Given the description of an element on the screen output the (x, y) to click on. 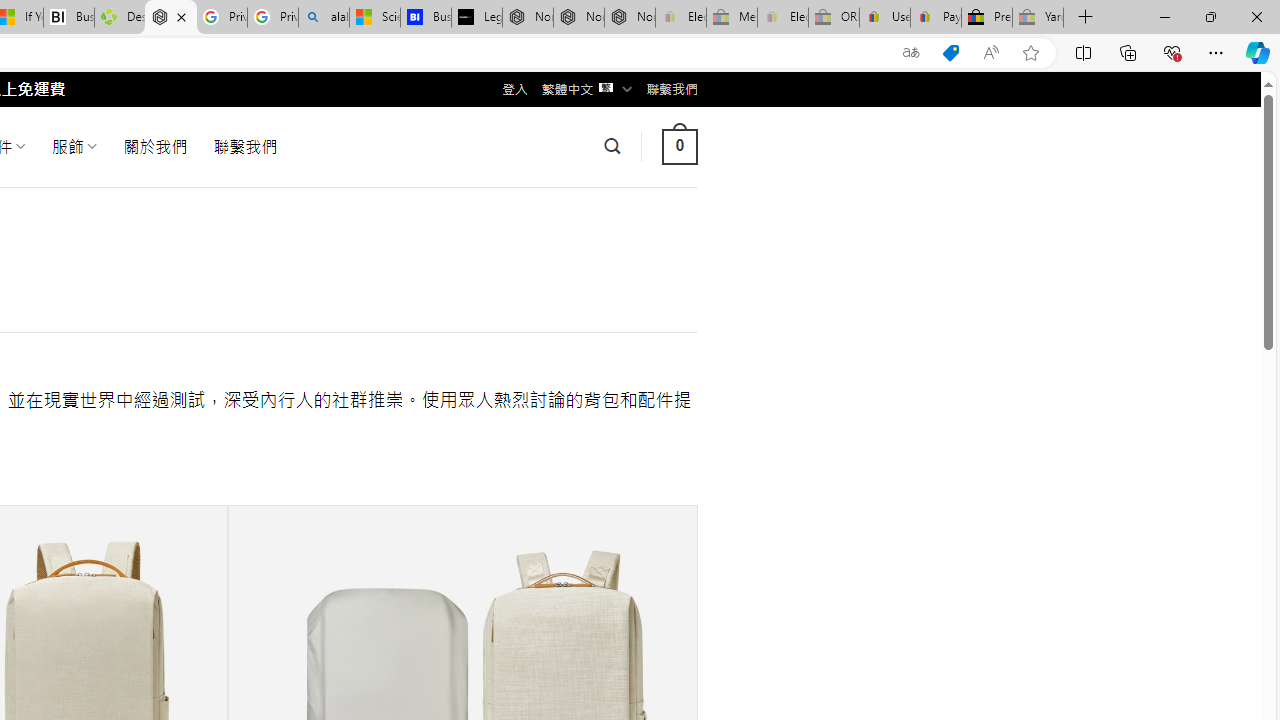
alabama high school quarterback dies - Search (324, 17)
Read aloud this page (Ctrl+Shift+U) (991, 53)
  0   (679, 146)
 0  (679, 146)
Close (1256, 16)
Press Room - eBay Inc. (987, 17)
Descarga Driver Updater (119, 17)
